Given the description of an element on the screen output the (x, y) to click on. 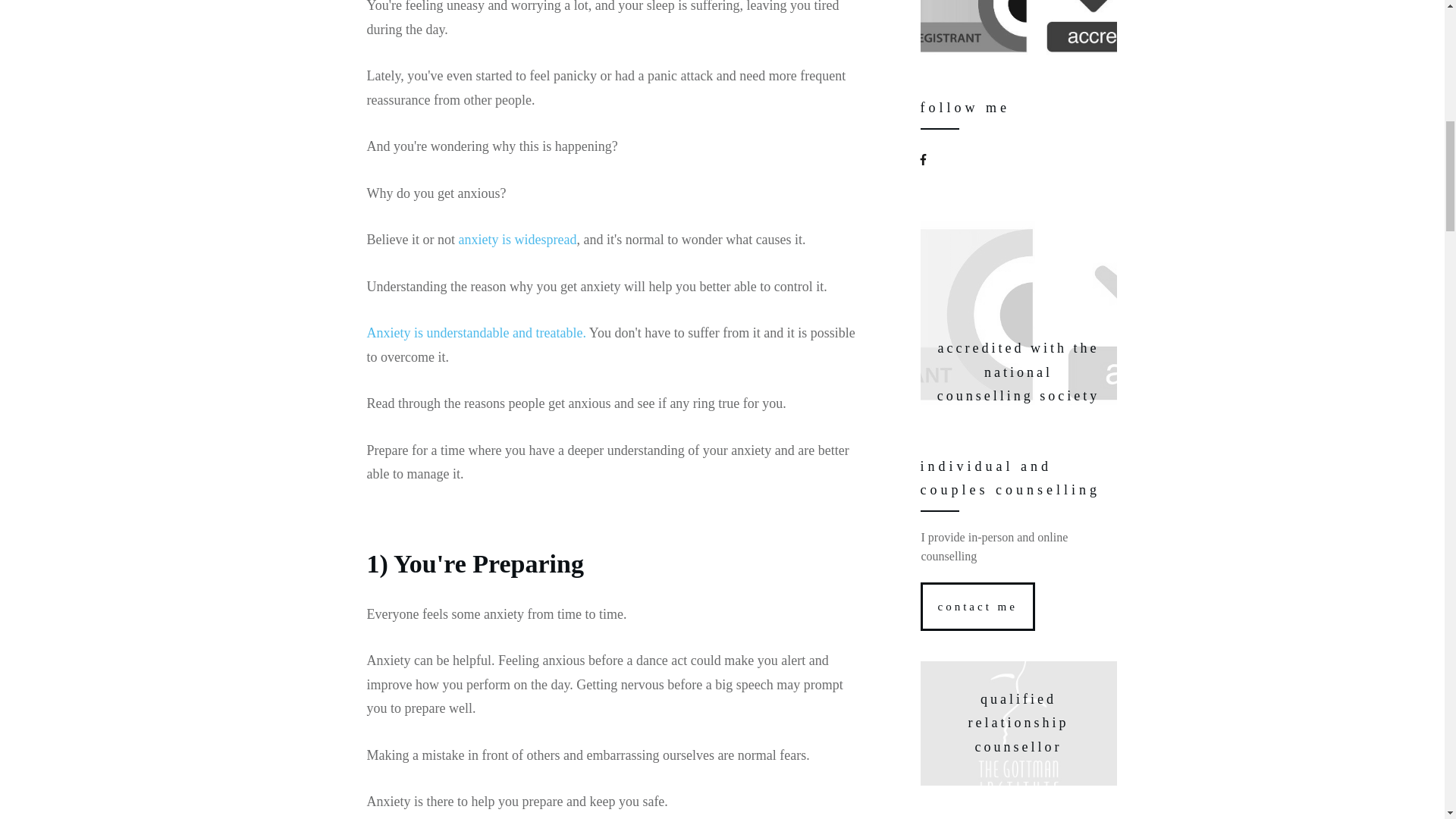
contact me (977, 606)
anxiety is widespread (517, 239)
Anxiety is understandable and treatable. (476, 332)
